Given the description of an element on the screen output the (x, y) to click on. 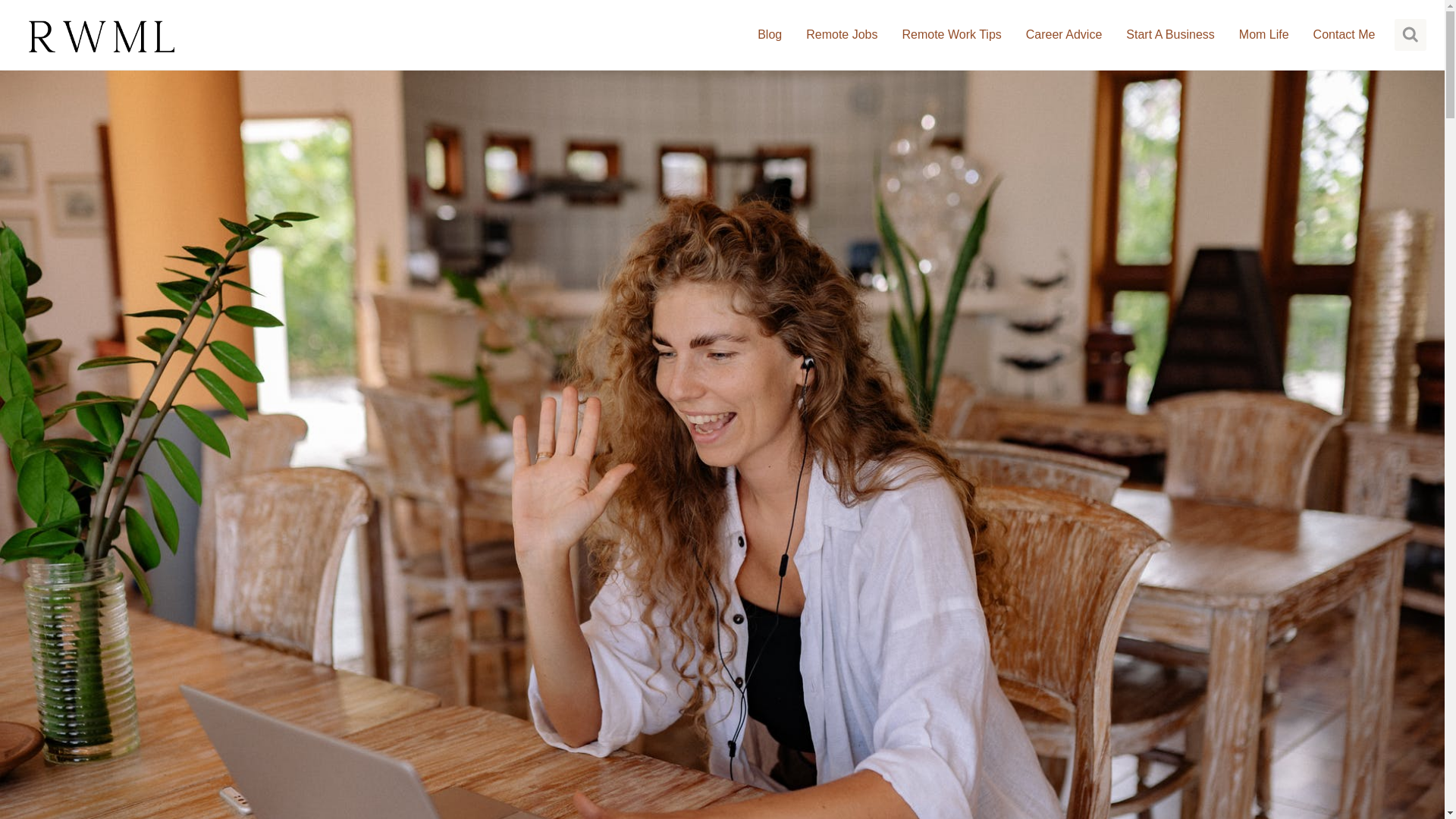
Remote Jobs (841, 34)
Career Advice (1064, 34)
Contact Me (1344, 34)
Mom Life (1264, 34)
Start A Business (1170, 34)
Remote Work Tips (951, 34)
Blog (769, 34)
